Given the description of an element on the screen output the (x, y) to click on. 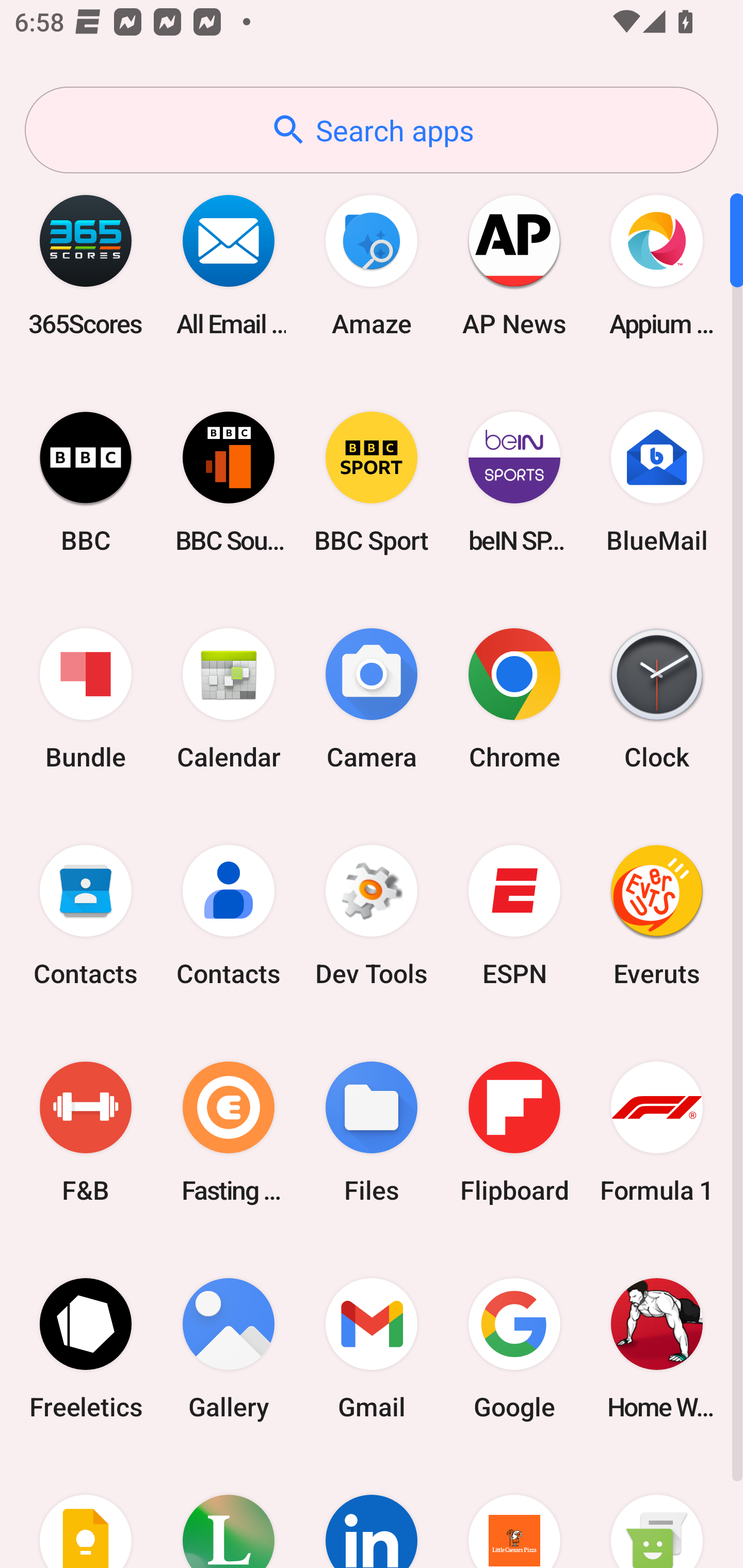
  Search apps (371, 130)
365Scores (85, 264)
All Email Connect (228, 264)
Amaze (371, 264)
AP News (514, 264)
Appium Settings (656, 264)
BBC (85, 482)
BBC Sounds (228, 482)
BBC Sport (371, 482)
beIN SPORTS (514, 482)
BlueMail (656, 482)
Bundle (85, 699)
Calendar (228, 699)
Camera (371, 699)
Chrome (514, 699)
Clock (656, 699)
Contacts (85, 915)
Contacts (228, 915)
Dev Tools (371, 915)
ESPN (514, 915)
Everuts (656, 915)
F&B (85, 1131)
Fasting Coach (228, 1131)
Files (371, 1131)
Flipboard (514, 1131)
Formula 1 (656, 1131)
Freeletics (85, 1348)
Gallery (228, 1348)
Gmail (371, 1348)
Google (514, 1348)
Home Workout (656, 1348)
